Given the description of an element on the screen output the (x, y) to click on. 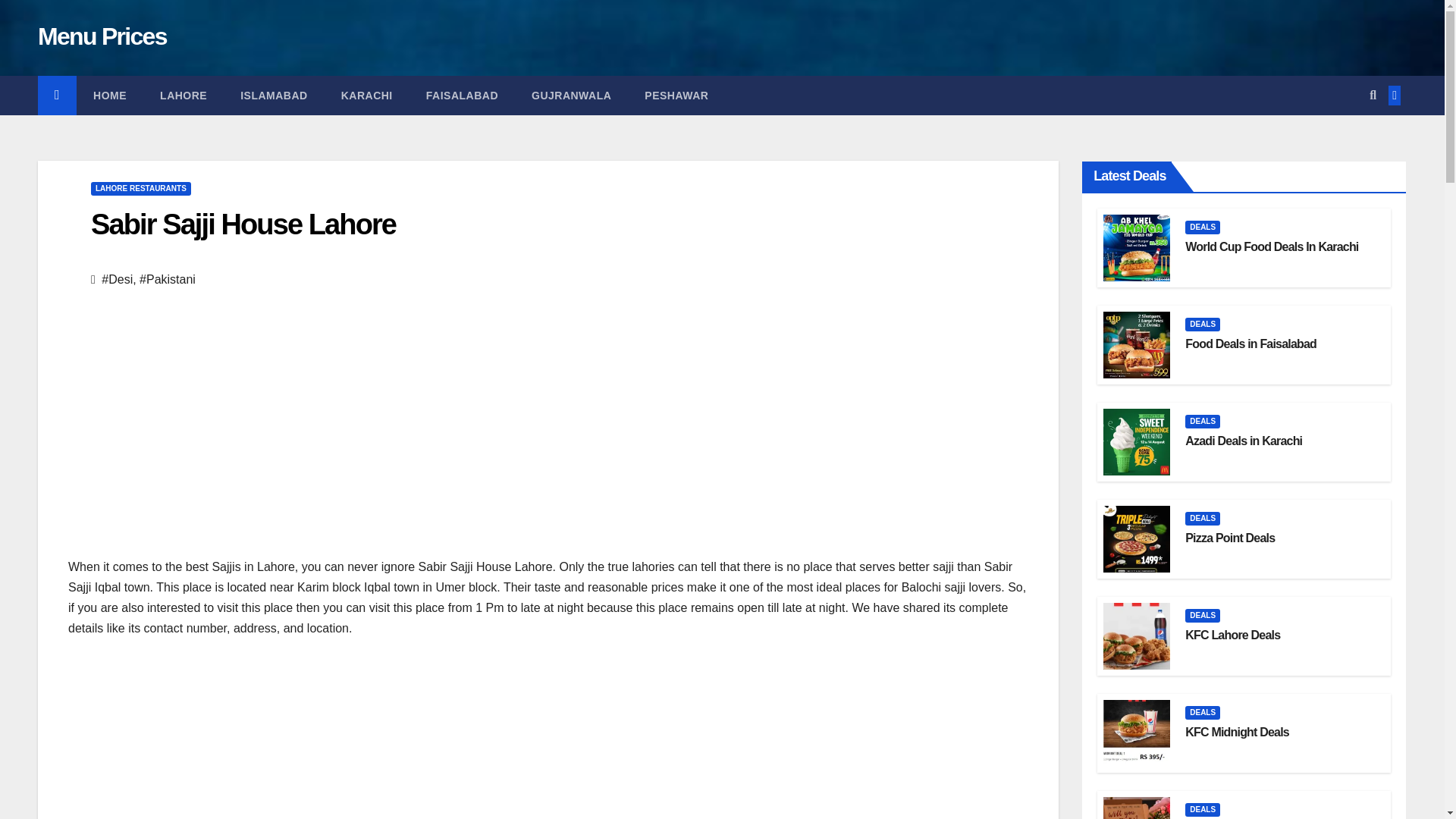
LAHORE RESTAURANTS (140, 188)
Karachi (366, 95)
Gujranwala (571, 95)
Peshawar (676, 95)
PESHAWAR (676, 95)
Menu Prices (102, 35)
Home (109, 95)
FAISALABAD (462, 95)
Sabir Sajji House Lahore (243, 224)
HOME (109, 95)
LAHORE (183, 95)
Faisalabad (462, 95)
Permalink to: Sabir Sajji House Lahore (243, 224)
ISLAMABAD (274, 95)
